Given the description of an element on the screen output the (x, y) to click on. 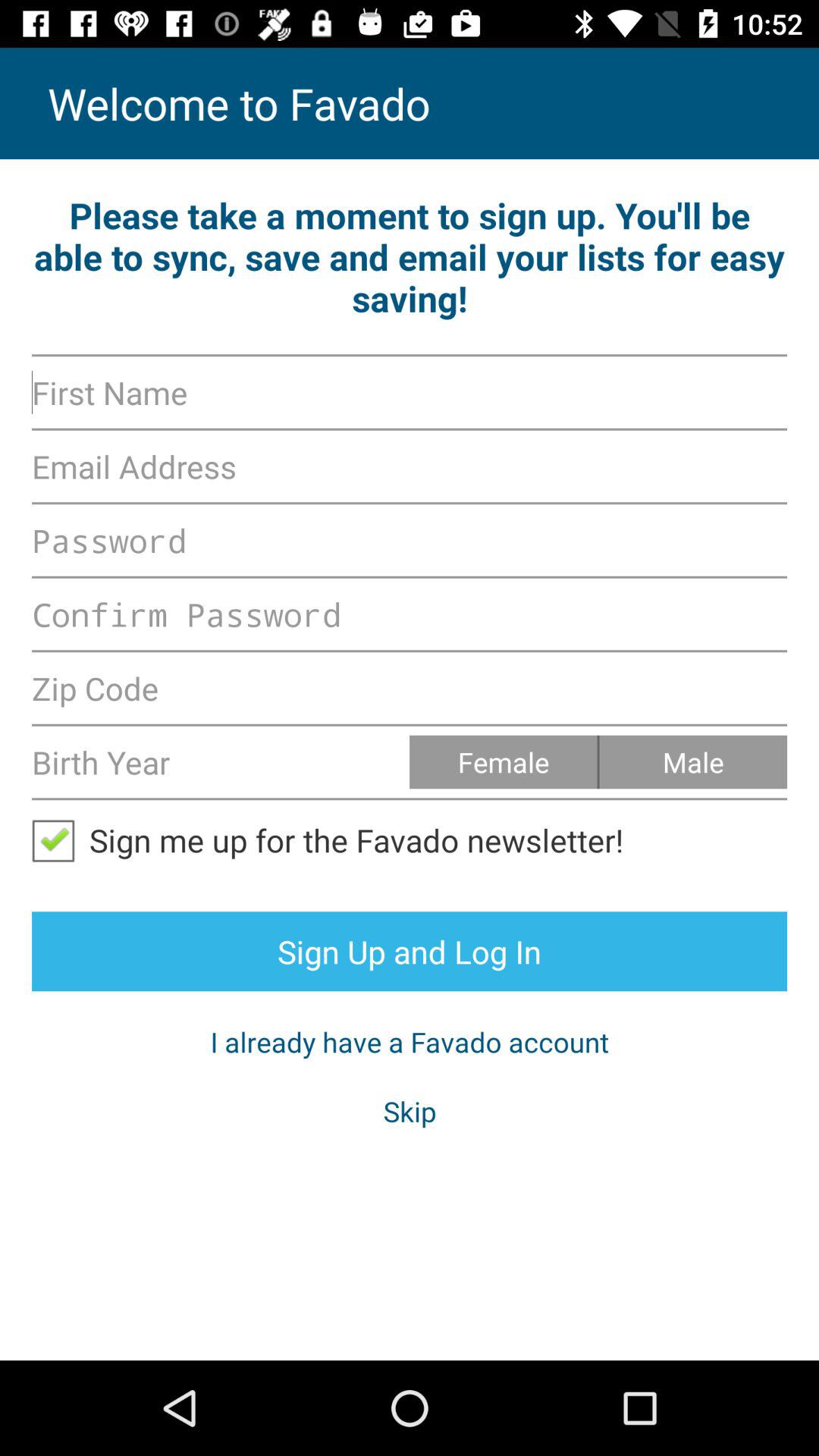
add birth year (220, 761)
